Given the description of an element on the screen output the (x, y) to click on. 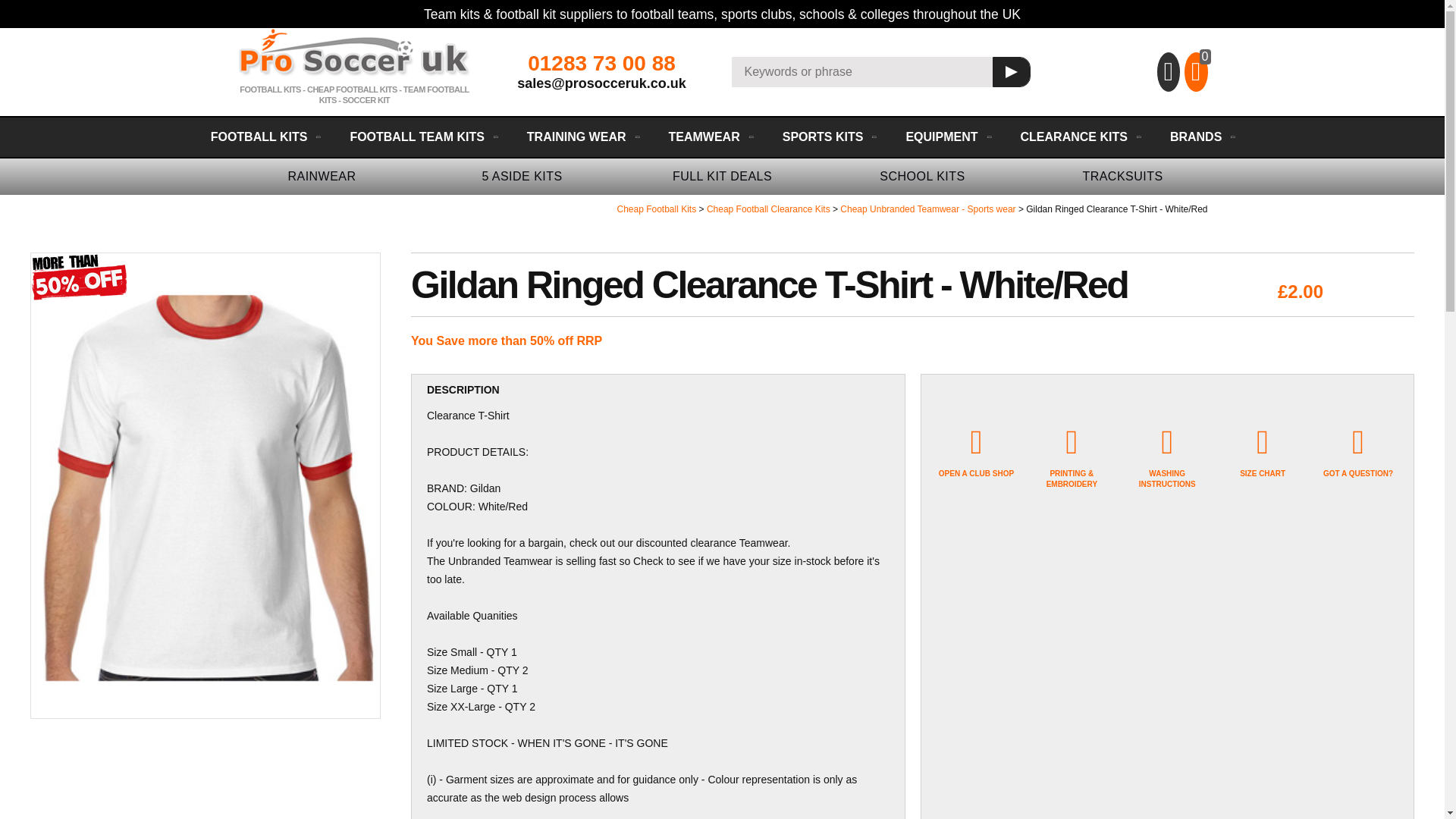
GO (1010, 71)
FOOTBALL KITS (264, 137)
